Given the description of an element on the screen output the (x, y) to click on. 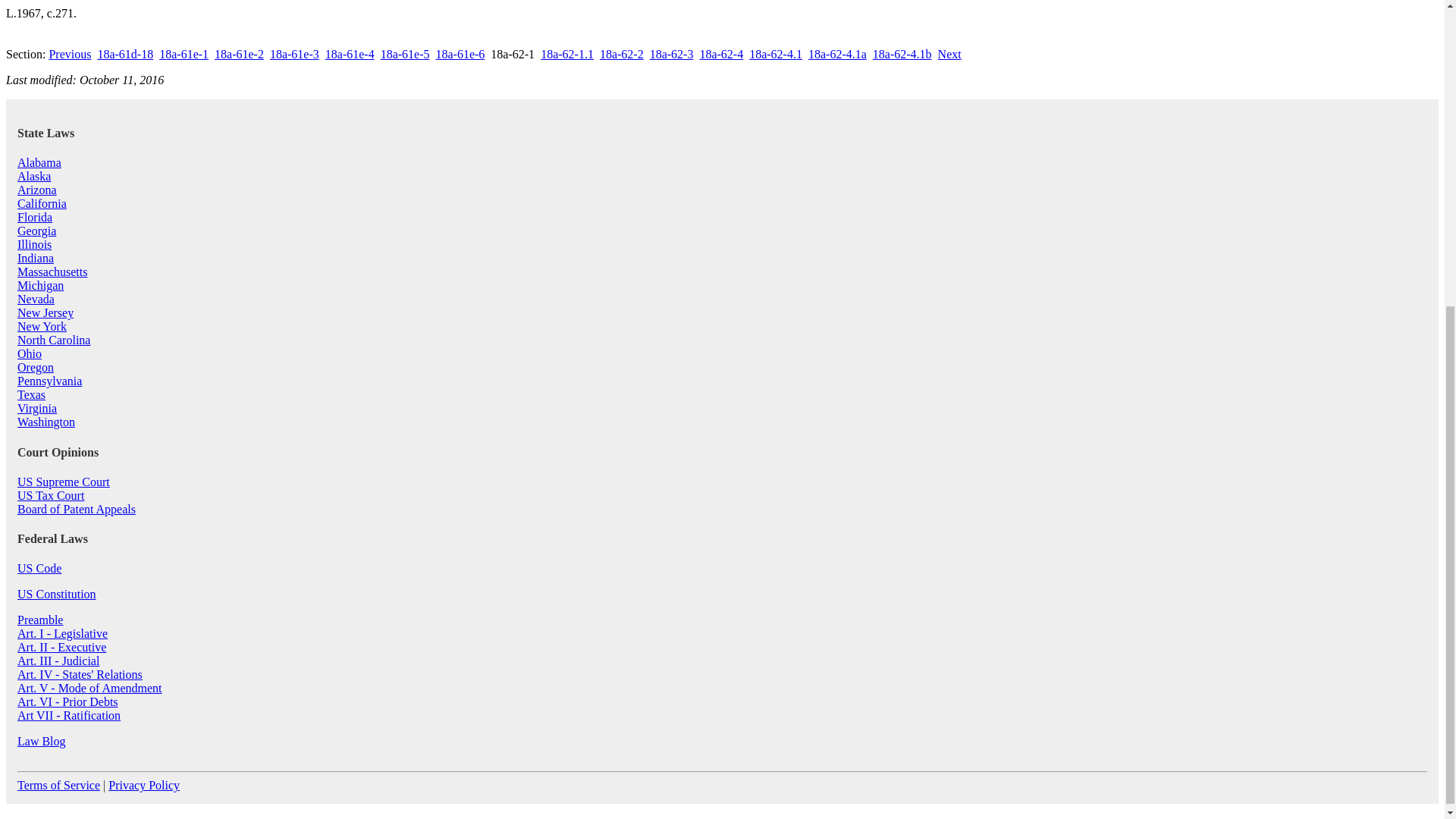
18a-61e-1 (183, 53)
18a-62-4.1a (837, 53)
New York (41, 326)
Nevada (36, 298)
18a-62-3 (671, 53)
18a-61e-6 (459, 53)
Ohio (29, 353)
Indiana (35, 257)
18a-62-1.1 (567, 53)
18a-61d-18 (124, 53)
California (41, 203)
Arizona (36, 189)
North Carolina (53, 339)
18a-61e-4 (349, 53)
Previous (69, 53)
